Given the description of an element on the screen output the (x, y) to click on. 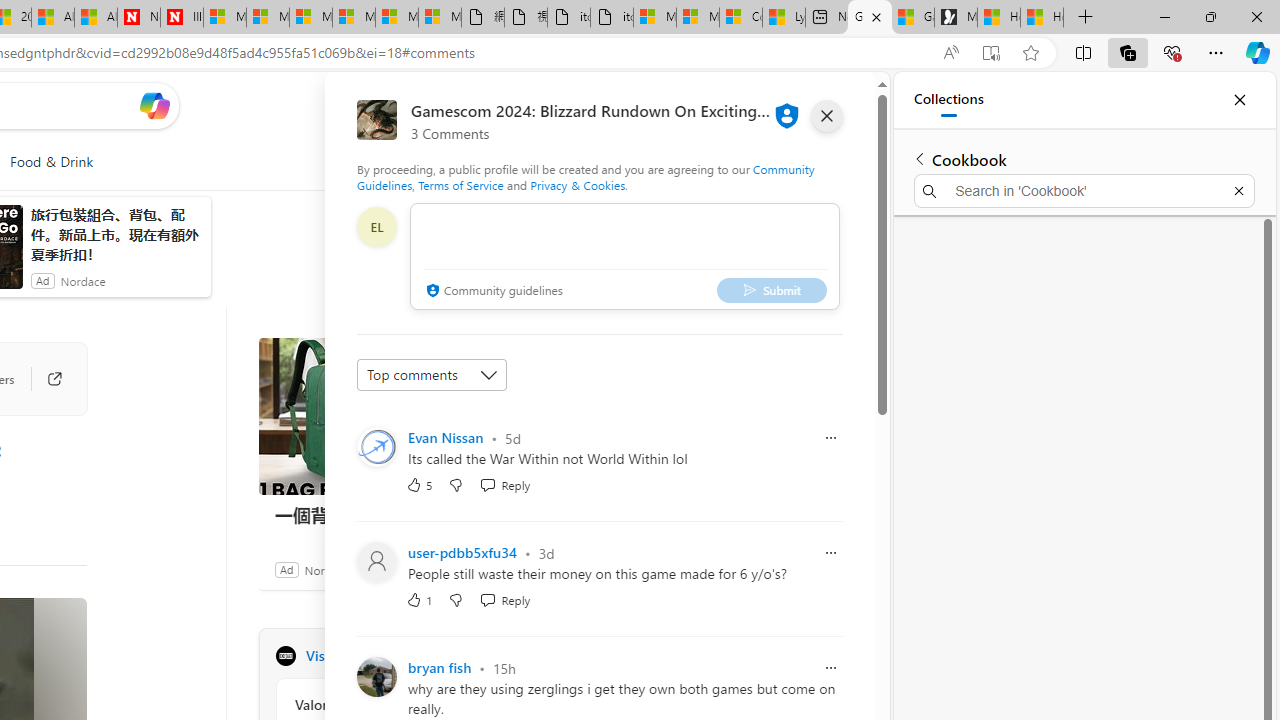
Submit (771, 290)
Microsoft Services Agreement (268, 17)
Profile Picture (376, 676)
Microsoft rewards (749, 105)
Community guidelines (492, 291)
Personalize (511, 162)
To get missing image descriptions, open the context menu. (471, 162)
bryan fish (440, 668)
Evan Nissan (445, 437)
Consumer Health Data Privacy Policy (740, 17)
